Given the description of an element on the screen output the (x, y) to click on. 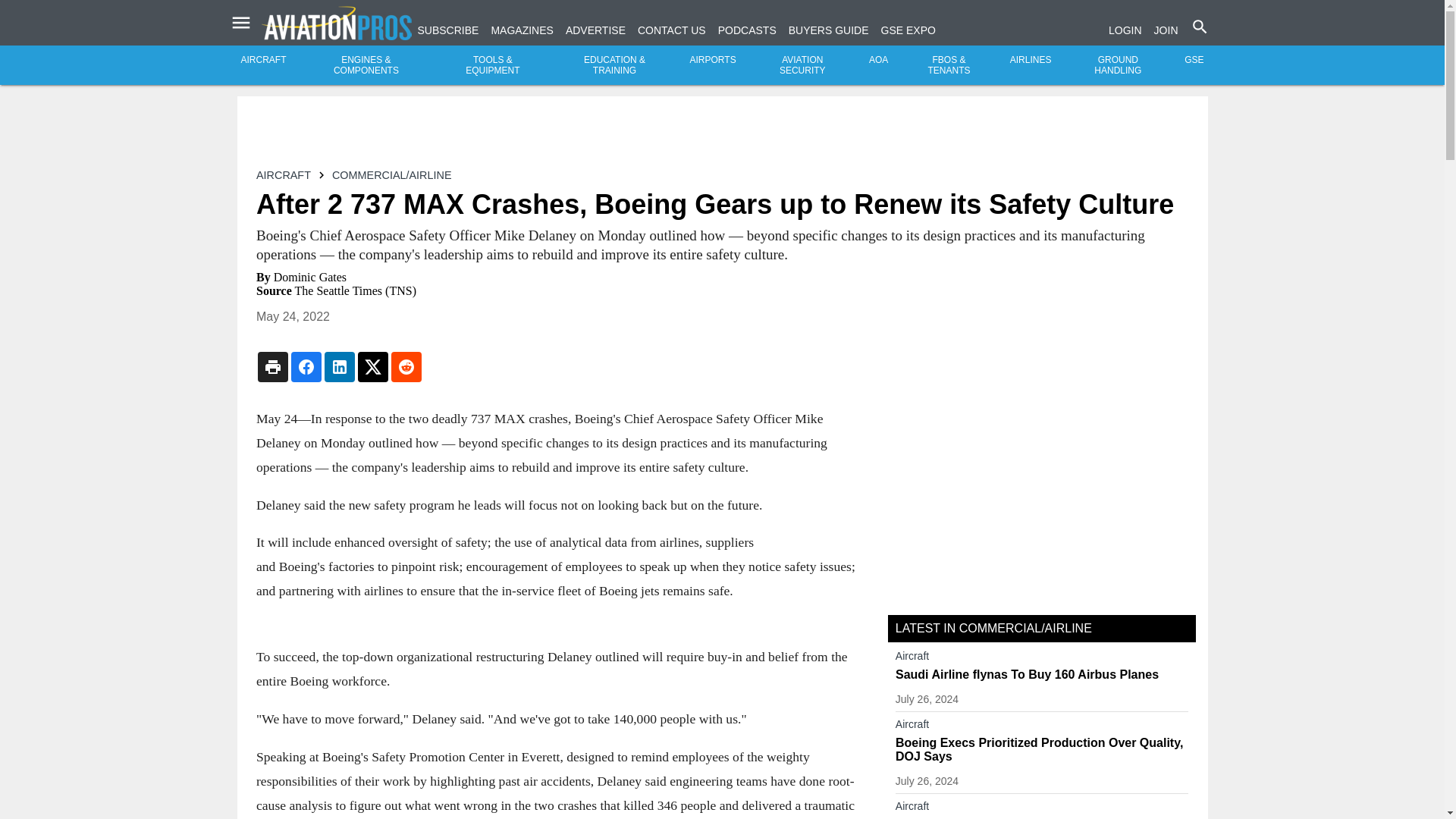
AIRCRAFT (263, 59)
AOA (878, 59)
AVIATION SECURITY (801, 65)
AIRPORTS (713, 59)
MAGAZINES (521, 30)
CONTACT US (671, 30)
ADVERTISE (596, 30)
GSE (1194, 59)
SUBSCRIBE (447, 30)
PODCASTS (746, 30)
AIRLINES (1030, 59)
GROUND HANDLING (1117, 65)
JOIN (1165, 30)
LOGIN (1124, 30)
BUYERS GUIDE (829, 30)
